Given the description of an element on the screen output the (x, y) to click on. 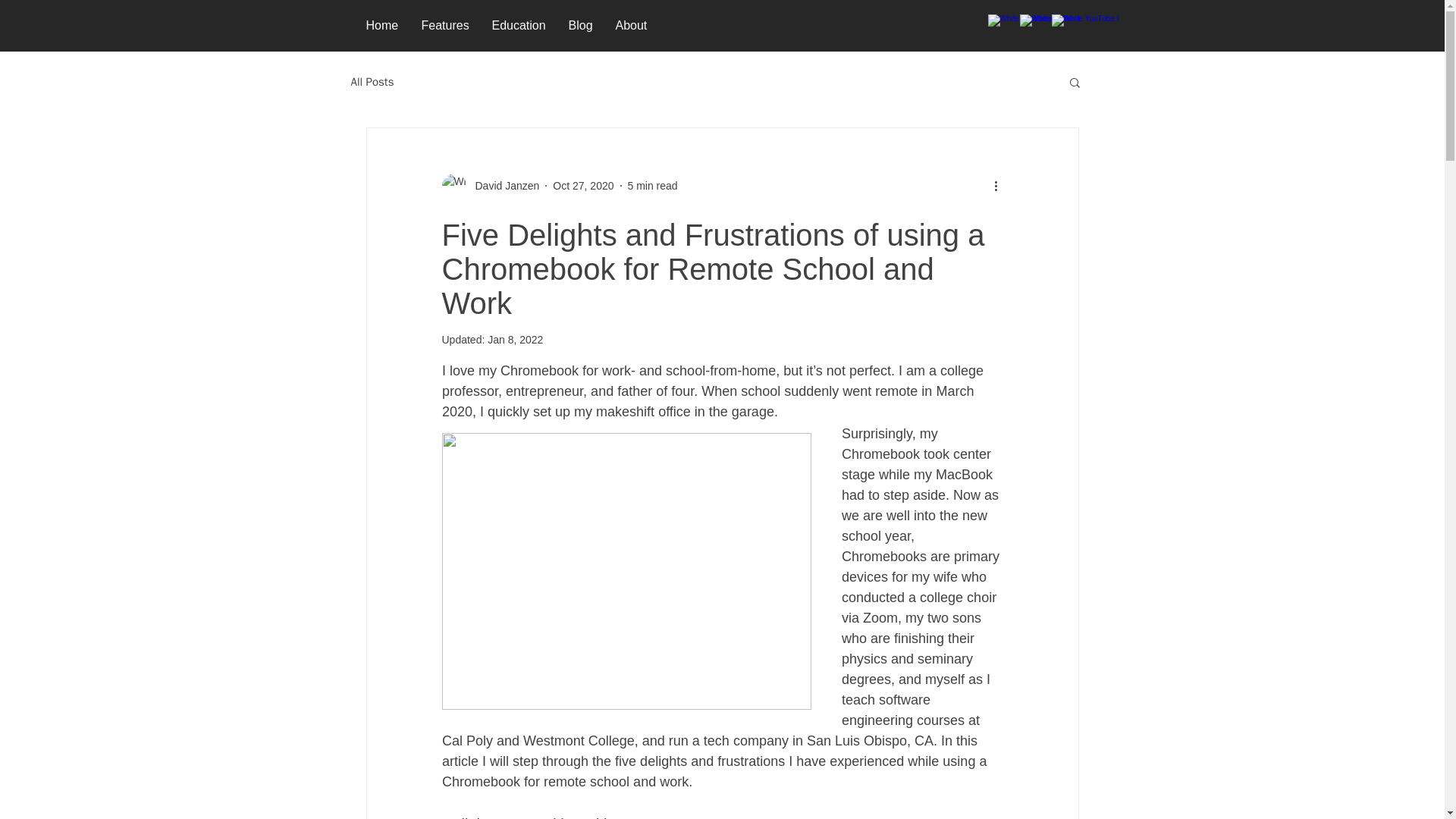
Education (518, 25)
5 min read (652, 184)
About (631, 25)
David Janzen (489, 185)
Features (444, 25)
All Posts (371, 81)
David Janzen (501, 185)
Oct 27, 2020 (582, 184)
Home (382, 25)
Jan 8, 2022 (515, 339)
Blog (580, 25)
